Given the description of an element on the screen output the (x, y) to click on. 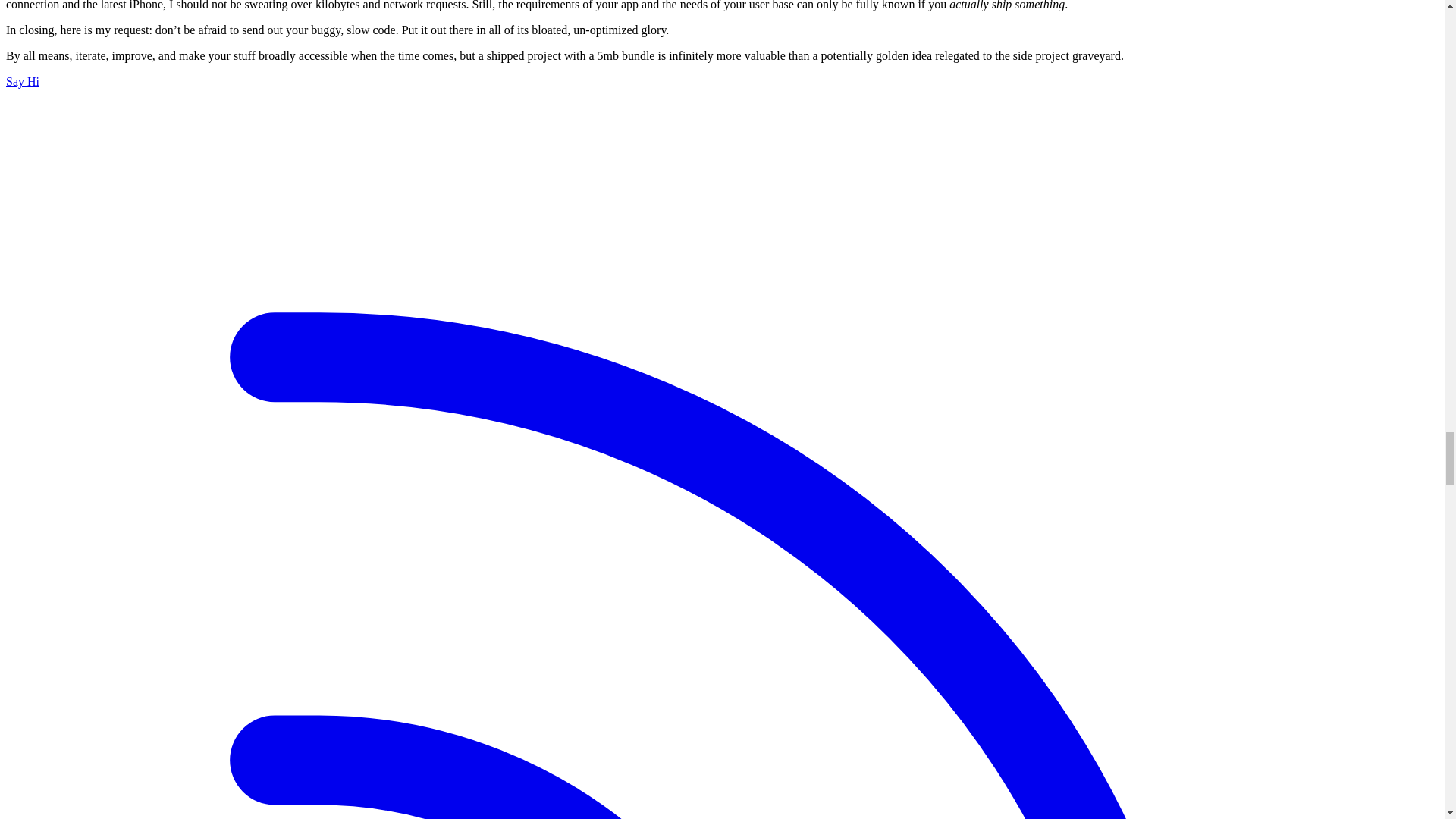
Say Hi (22, 81)
